Given the description of an element on the screen output the (x, y) to click on. 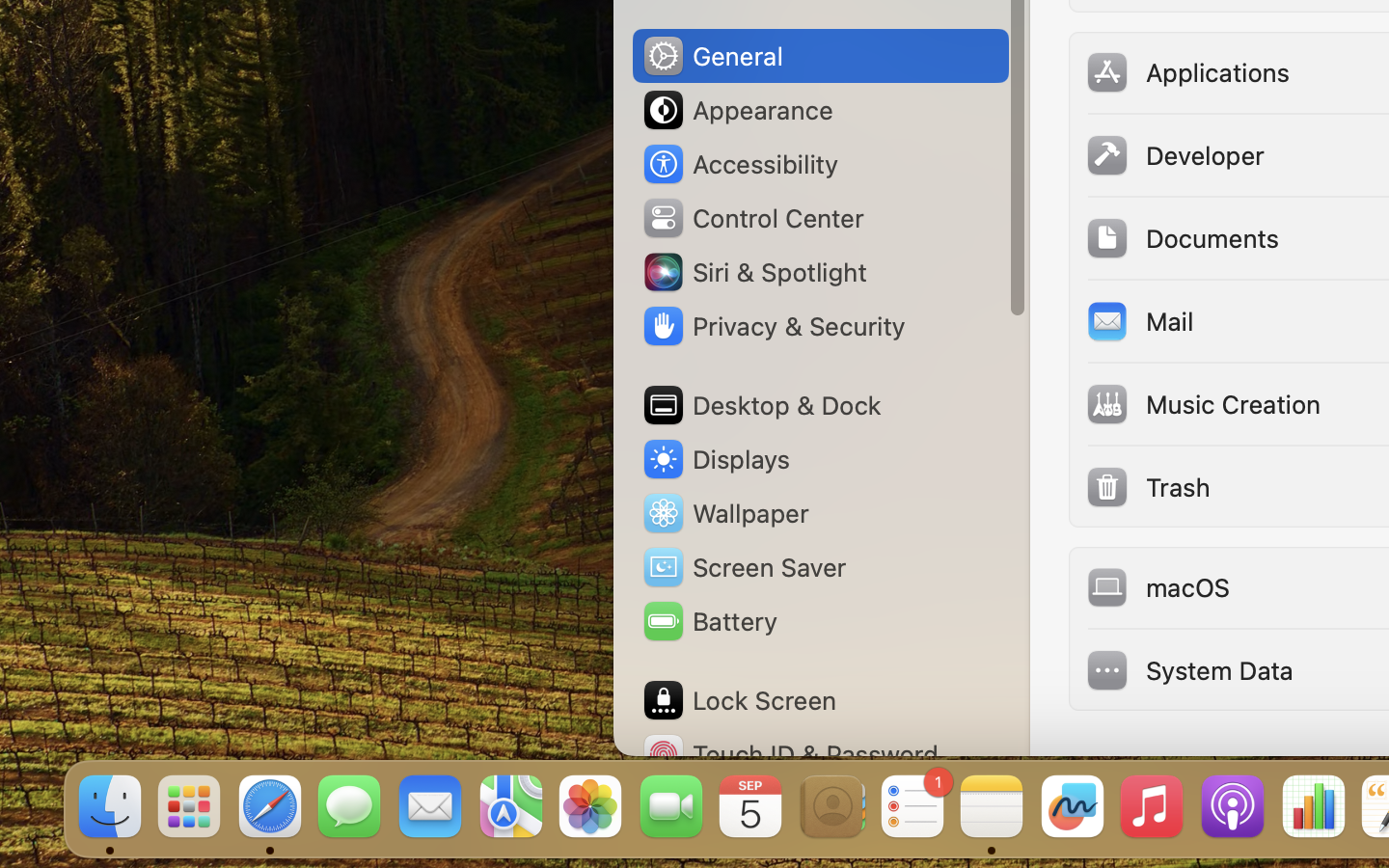
Touch ID & Password Element type: AXStaticText (789, 754)
Lock Screen Element type: AXStaticText (738, 700)
Mail Element type: AXStaticText (1139, 320)
Trash Element type: AXStaticText (1146, 485)
Music Creation Element type: AXStaticText (1202, 402)
